Given the description of an element on the screen output the (x, y) to click on. 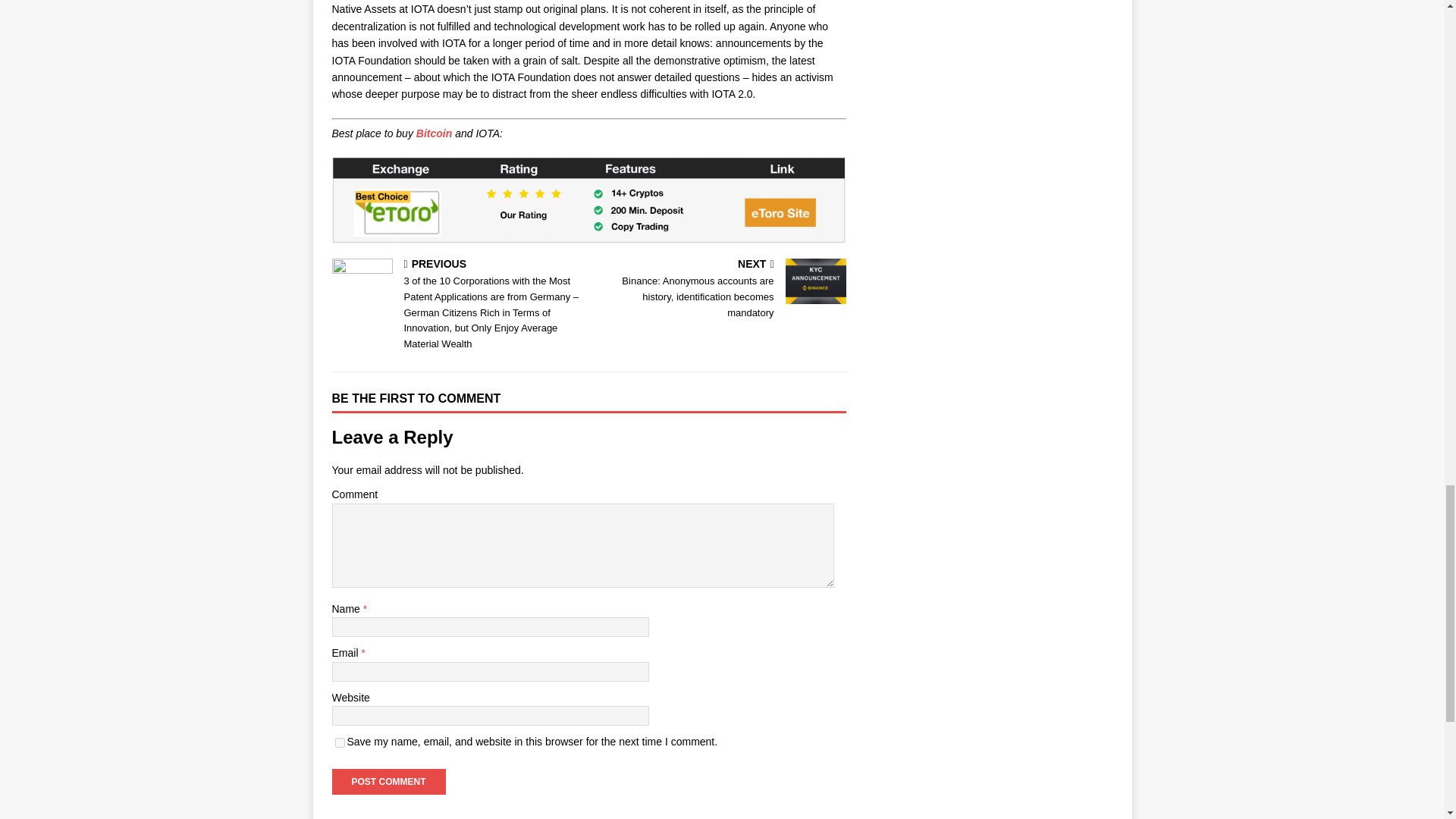
Post Comment (388, 781)
yes (339, 742)
Post Comment (388, 781)
Bitcoin (433, 133)
